Given the description of an element on the screen output the (x, y) to click on. 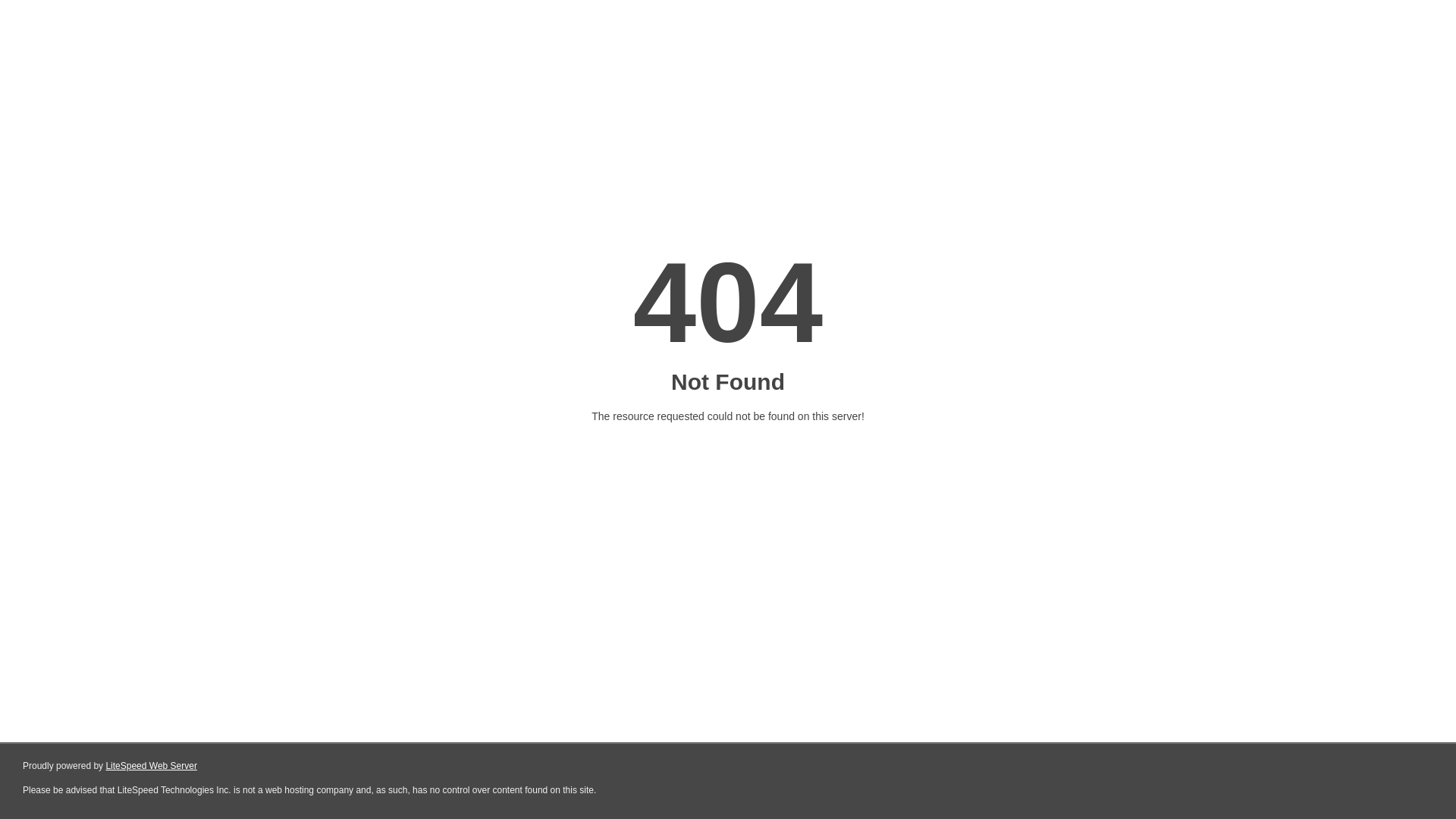
LiteSpeed Web Server Element type: text (151, 765)
